Given the description of an element on the screen output the (x, y) to click on. 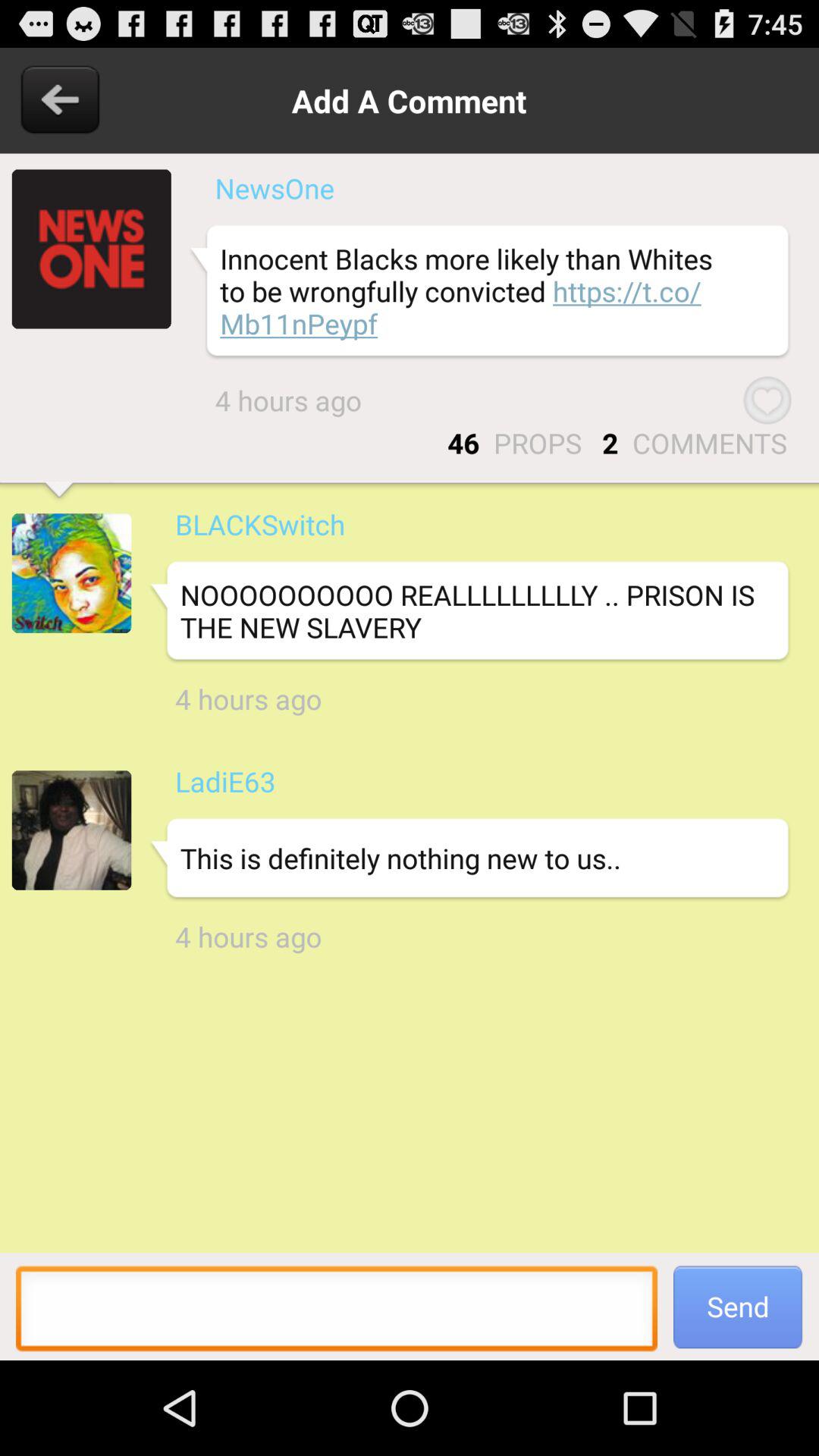
tap app below the 4 hours ago app (225, 781)
